Given the description of an element on the screen output the (x, y) to click on. 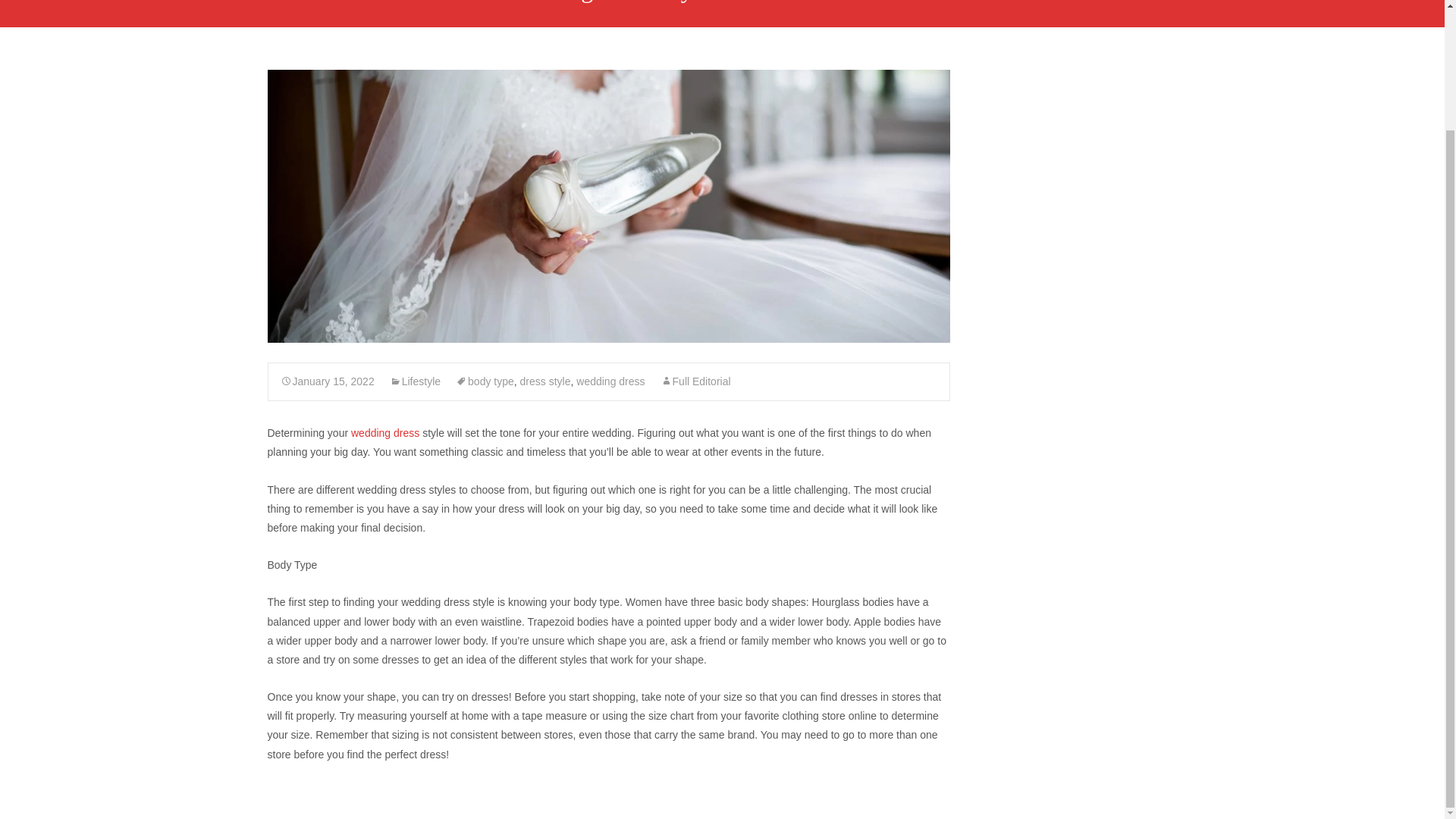
wedding dress (384, 432)
dress style (544, 381)
wedding dress (610, 381)
Lifestyle (415, 381)
Full Editorial (695, 381)
Permalink to How to Determine Your Wedding Dress Style (327, 381)
January 15, 2022 (327, 381)
body type (484, 381)
